Given the description of an element on the screen output the (x, y) to click on. 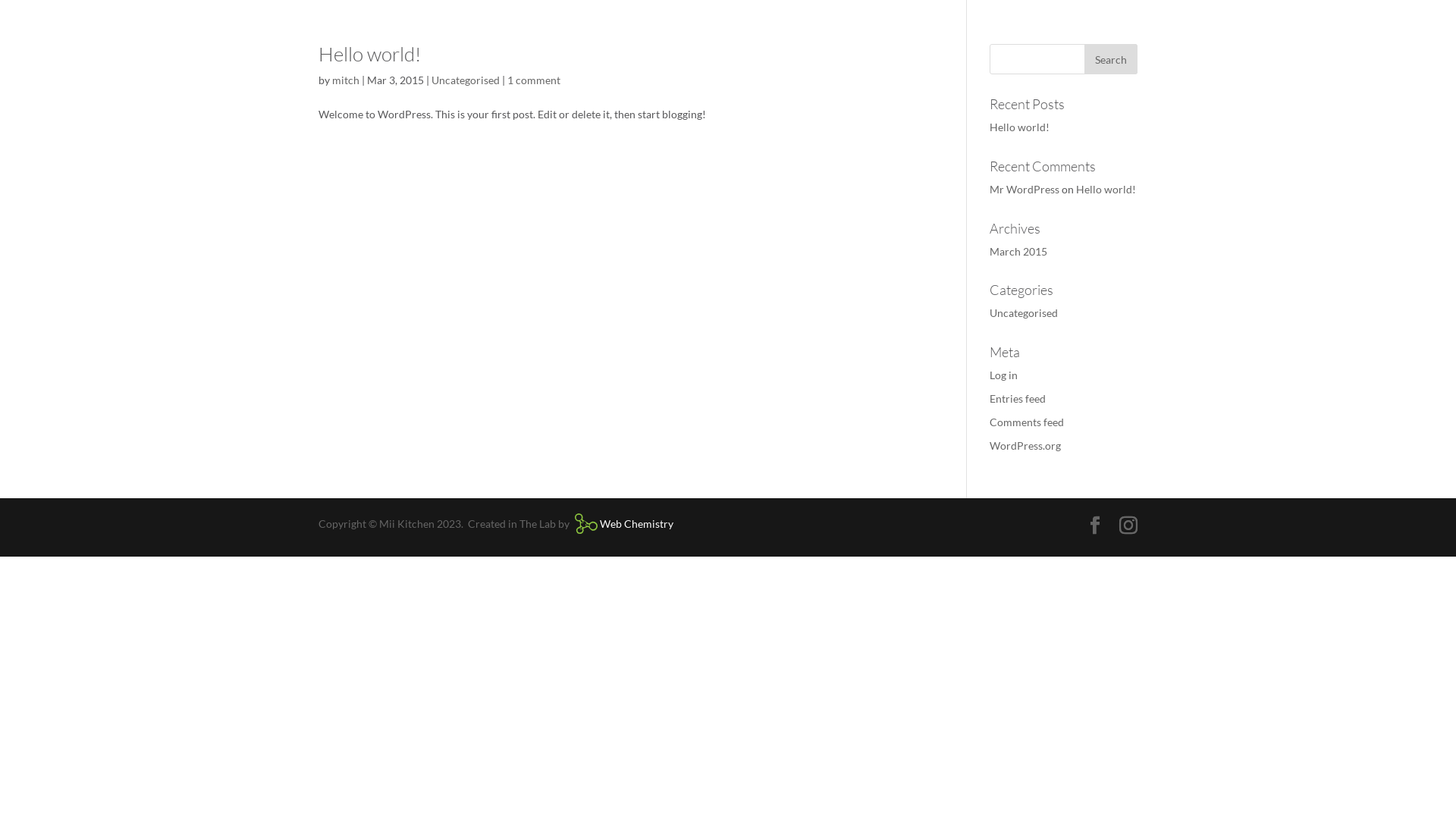
Log in Element type: text (1003, 374)
1 comment Element type: text (533, 79)
Uncategorised Element type: text (1023, 312)
Web Chemistry Element type: text (621, 526)
WordPress.org Element type: text (1024, 445)
Comments feed Element type: text (1026, 421)
Search Element type: text (1110, 58)
Mr WordPress Element type: text (1024, 188)
Hello world! Element type: text (1019, 126)
Hello world! Element type: text (1105, 188)
Uncategorised Element type: text (465, 79)
Entries feed Element type: text (1017, 398)
Hello world! Element type: text (369, 53)
mitch Element type: text (345, 79)
March 2015 Element type: text (1018, 250)
